Given the description of an element on the screen output the (x, y) to click on. 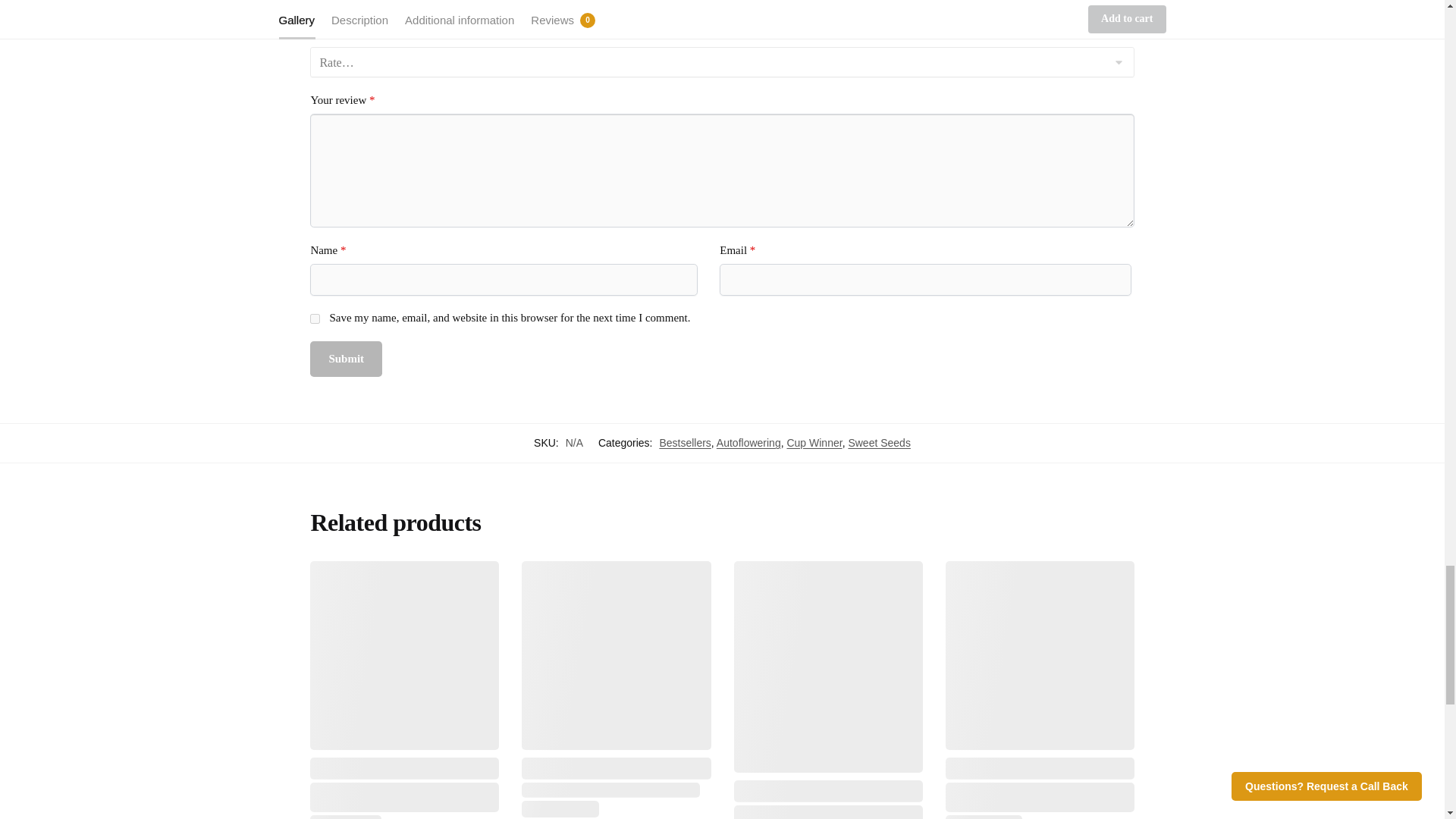
yes (315, 318)
Submit (345, 358)
